Given the description of an element on the screen output the (x, y) to click on. 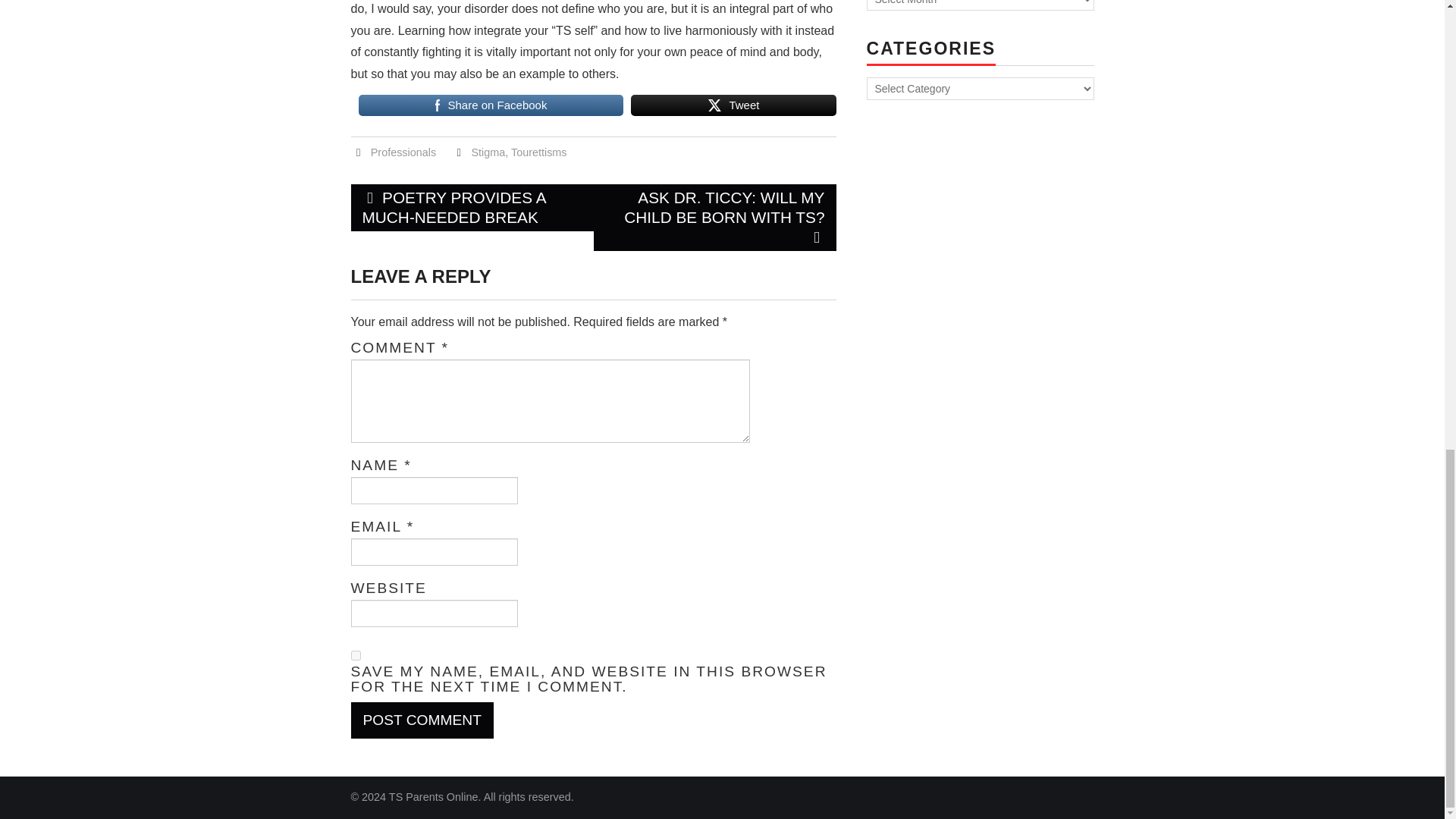
Stigma (487, 152)
yes (354, 655)
Tourettisms (539, 152)
Share on Facebook (490, 105)
Post Comment (421, 719)
ASK DR. TICCY: WILL MY CHILD BE BORN WITH TS? (713, 217)
Post Comment (421, 719)
Tweet (732, 105)
Professionals (403, 152)
POETRY PROVIDES A MUCH-NEEDED BREAK (471, 207)
